Given the description of an element on the screen output the (x, y) to click on. 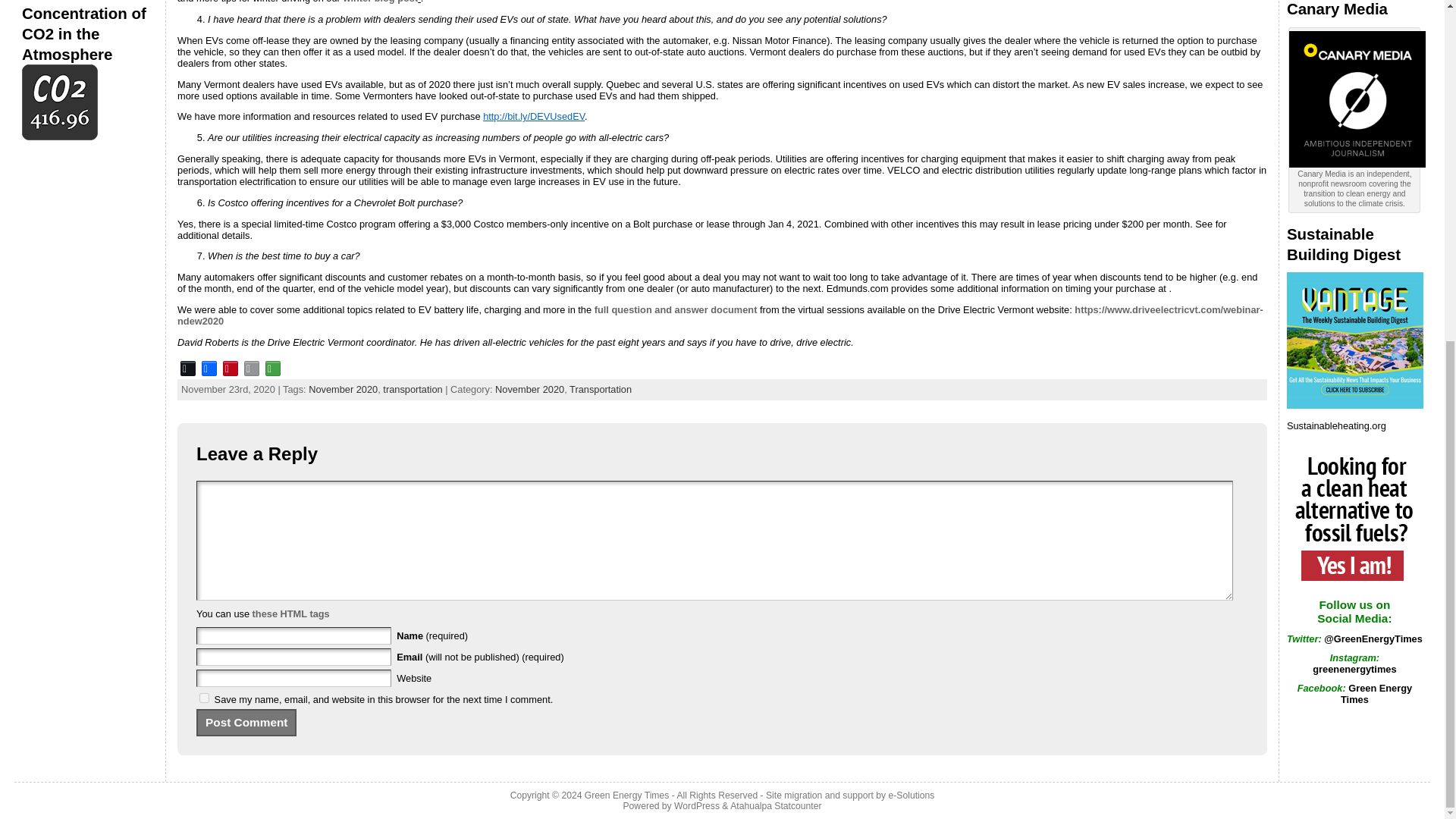
full question and answer document (675, 309)
winter blog post (379, 2)
yes (204, 697)
Post Comment (246, 722)
